Given the description of an element on the screen output the (x, y) to click on. 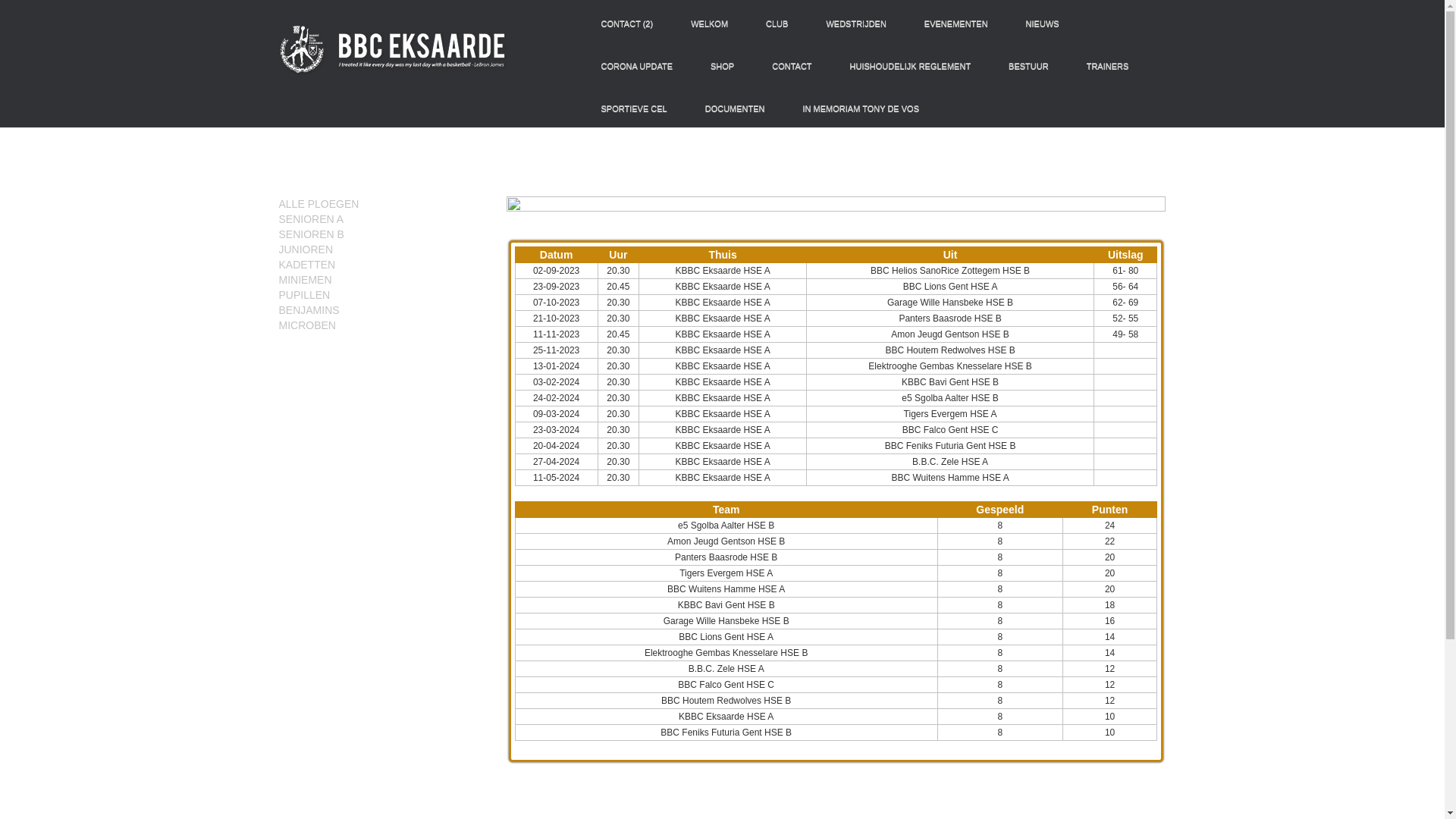
BENJAMINS Element type: text (381, 309)
SENIOREN B Element type: text (381, 233)
CONTACT Element type: text (791, 64)
DOCUMENTEN Element type: text (734, 107)
WEDSTRIJDEN Element type: text (855, 22)
MINIEMEN Element type: text (381, 279)
SHOP Element type: text (722, 64)
HUISHOUDELIJK REGLEMENT Element type: text (910, 64)
WELKOM Element type: text (709, 22)
BESTUUR Element type: text (1028, 64)
EVENEMENTEN Element type: text (956, 22)
TRAINERS Element type: text (1107, 64)
CONTACT (2) Element type: text (627, 22)
KADETTEN Element type: text (381, 264)
IN MEMORIAM TONY DE VOS Element type: text (860, 107)
JUNIOREN Element type: text (381, 249)
SENIOREN A Element type: text (311, 219)
NIEUWS Element type: text (1042, 22)
MICROBEN Element type: text (381, 324)
SPORTIEVE CEL Element type: text (633, 107)
ALLE PLOEGEN Element type: text (381, 203)
PUPILLEN Element type: text (381, 294)
CORONA UPDATE Element type: text (636, 64)
CLUB Element type: text (776, 22)
